Given the description of an element on the screen output the (x, y) to click on. 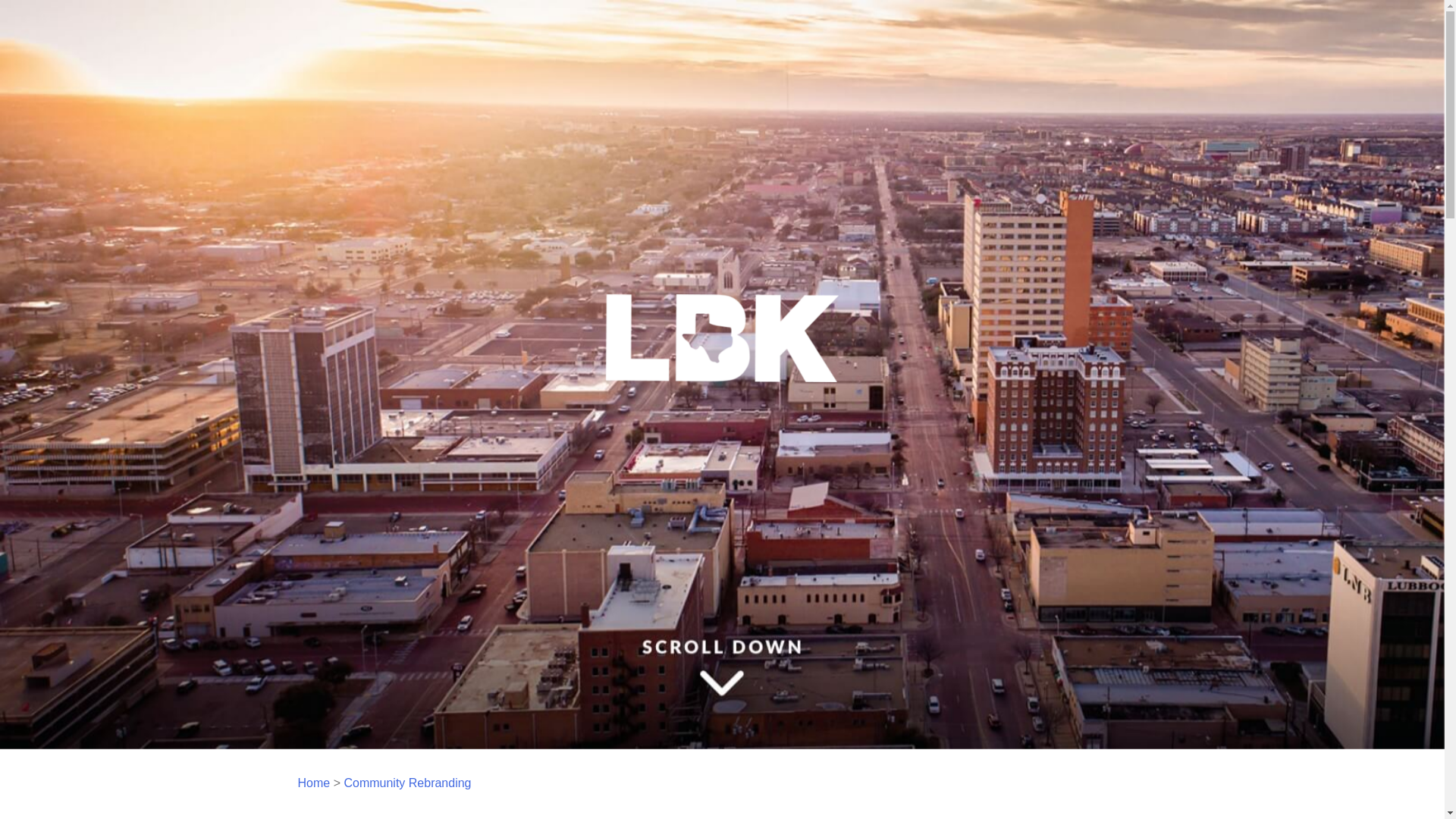
Home (313, 782)
Community Rebranding (406, 782)
